Given the description of an element on the screen output the (x, y) to click on. 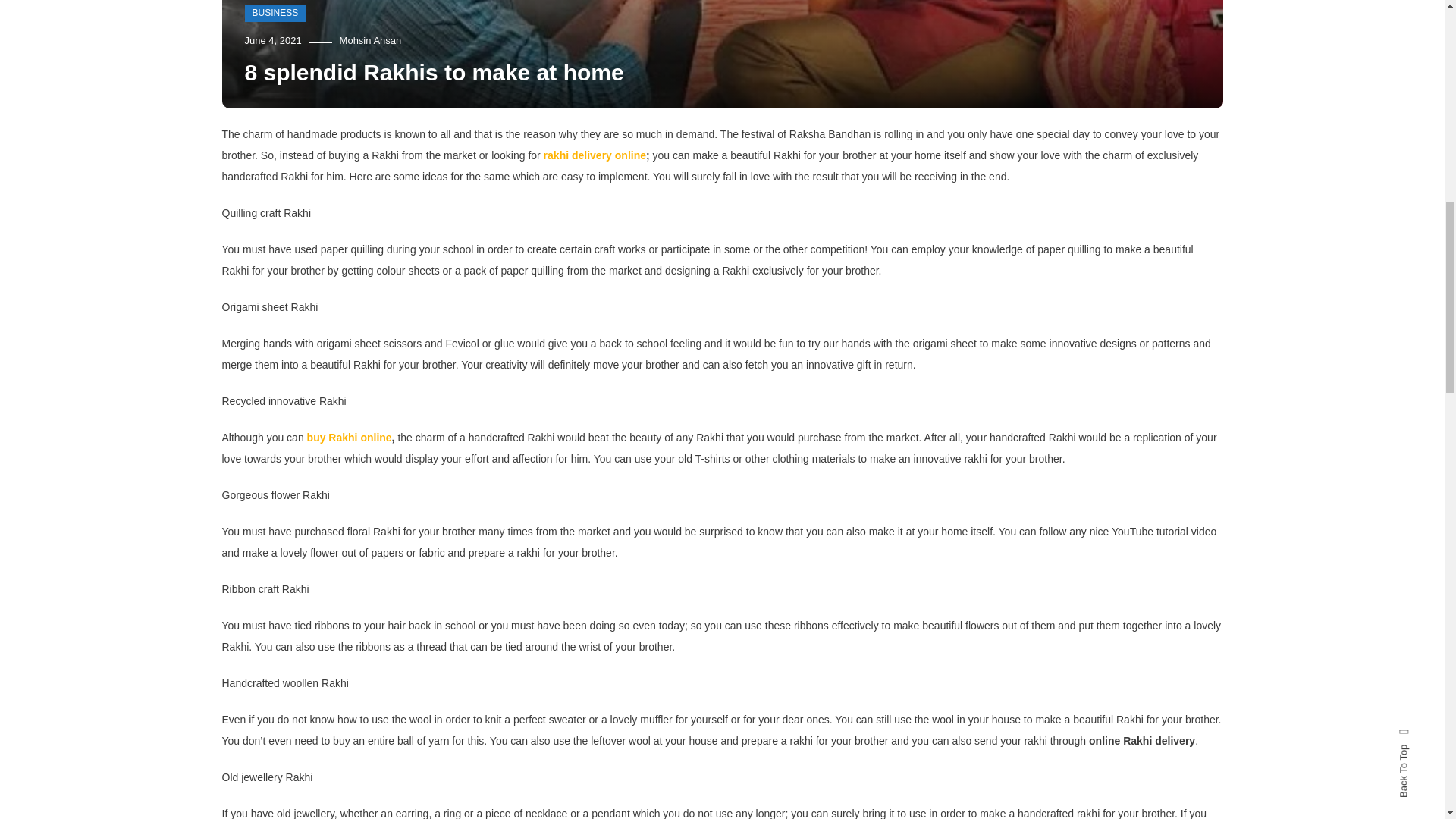
rakhi delivery online (594, 155)
BUSINESS (274, 13)
June 4, 2021 (272, 40)
8 splendid Rakhis to make at home (433, 72)
buy Rakhi online (349, 437)
Mohsin Ahsan (370, 40)
